Given the description of an element on the screen output the (x, y) to click on. 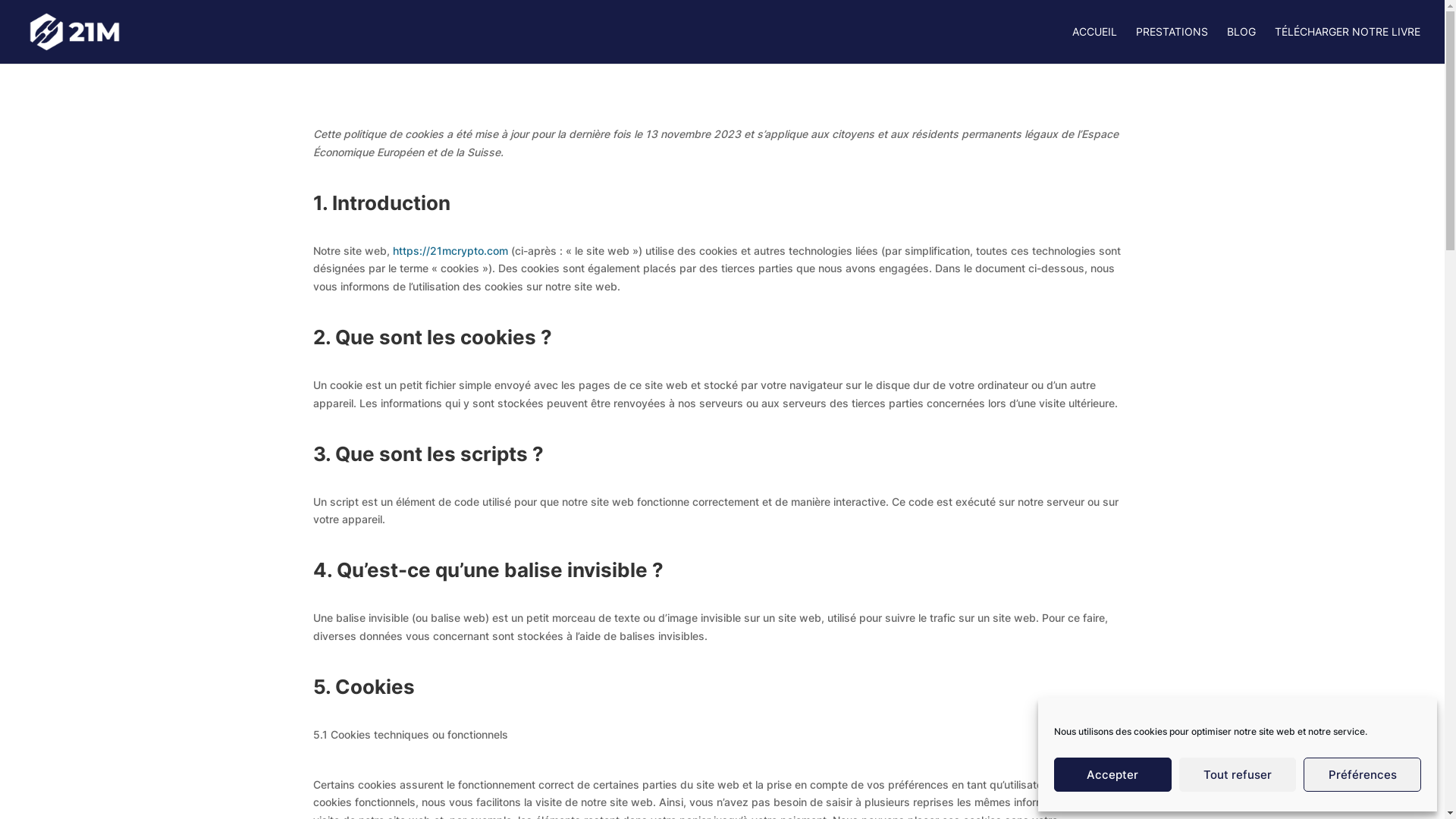
https://21mcrypto.com Element type: text (450, 250)
BLOG Element type: text (1240, 44)
Tout refuser Element type: text (1237, 774)
ACCUEIL Element type: text (1094, 44)
Accepter Element type: text (1112, 774)
PRESTATIONS Element type: text (1171, 44)
